Given the description of an element on the screen output the (x, y) to click on. 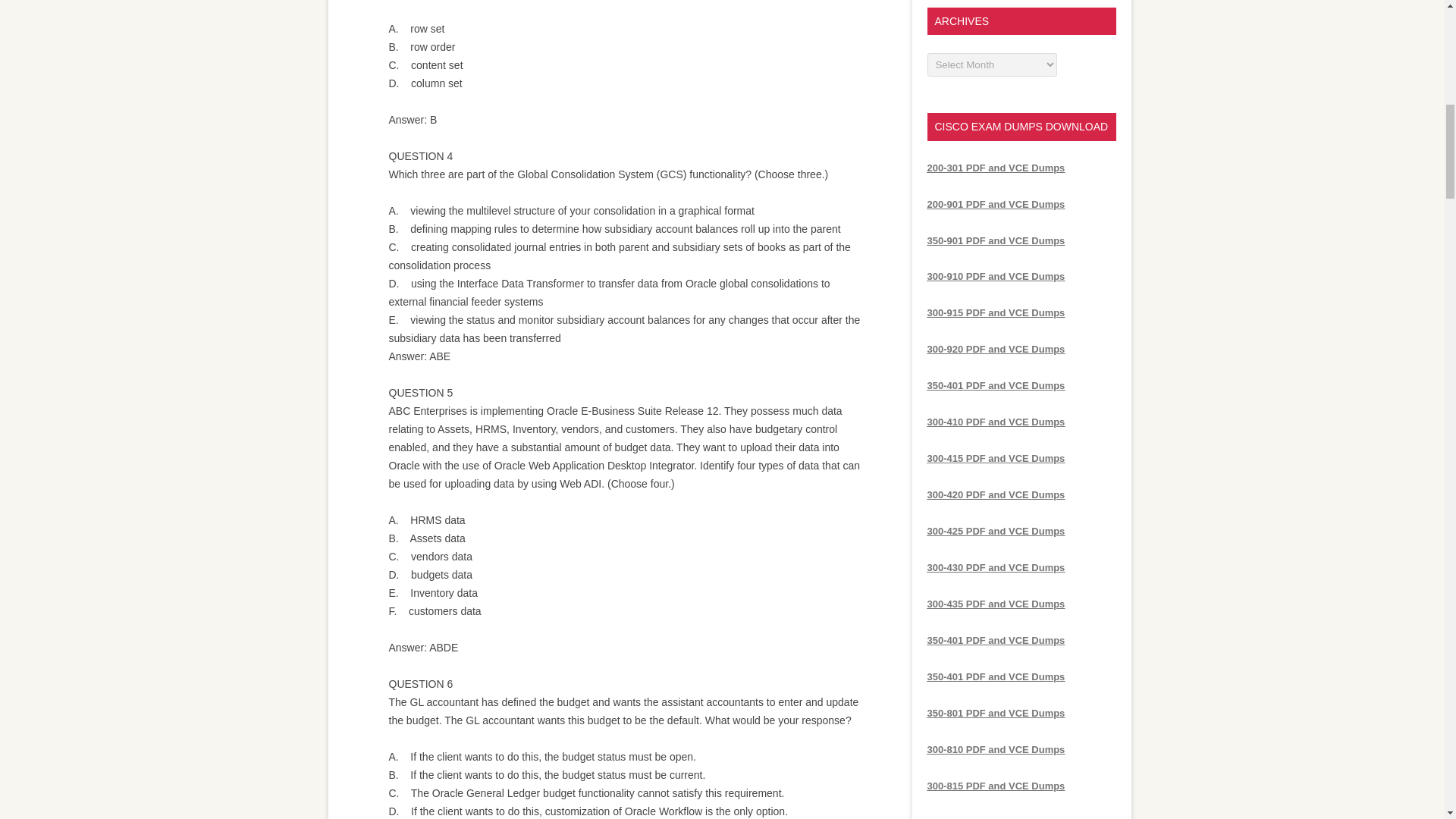
300-920 PDF and VCE Dumps (995, 348)
200-301 PDF and VCE Dumps (995, 167)
350-901 PDF and VCE Dumps (995, 240)
300-410 PDF and VCE Dumps (995, 421)
300-415 PDF and VCE Dumps (995, 458)
300-420 PDF and VCE Dumps (995, 494)
300-915 PDF and VCE Dumps (995, 312)
300-430 PDF and VCE Dumps (995, 567)
350-401 PDF and VCE Dumps (995, 385)
300-910 PDF and VCE Dumps (995, 276)
300-425 PDF and VCE Dumps (995, 531)
200-901 PDF and VCE Dumps (995, 204)
